Given the description of an element on the screen output the (x, y) to click on. 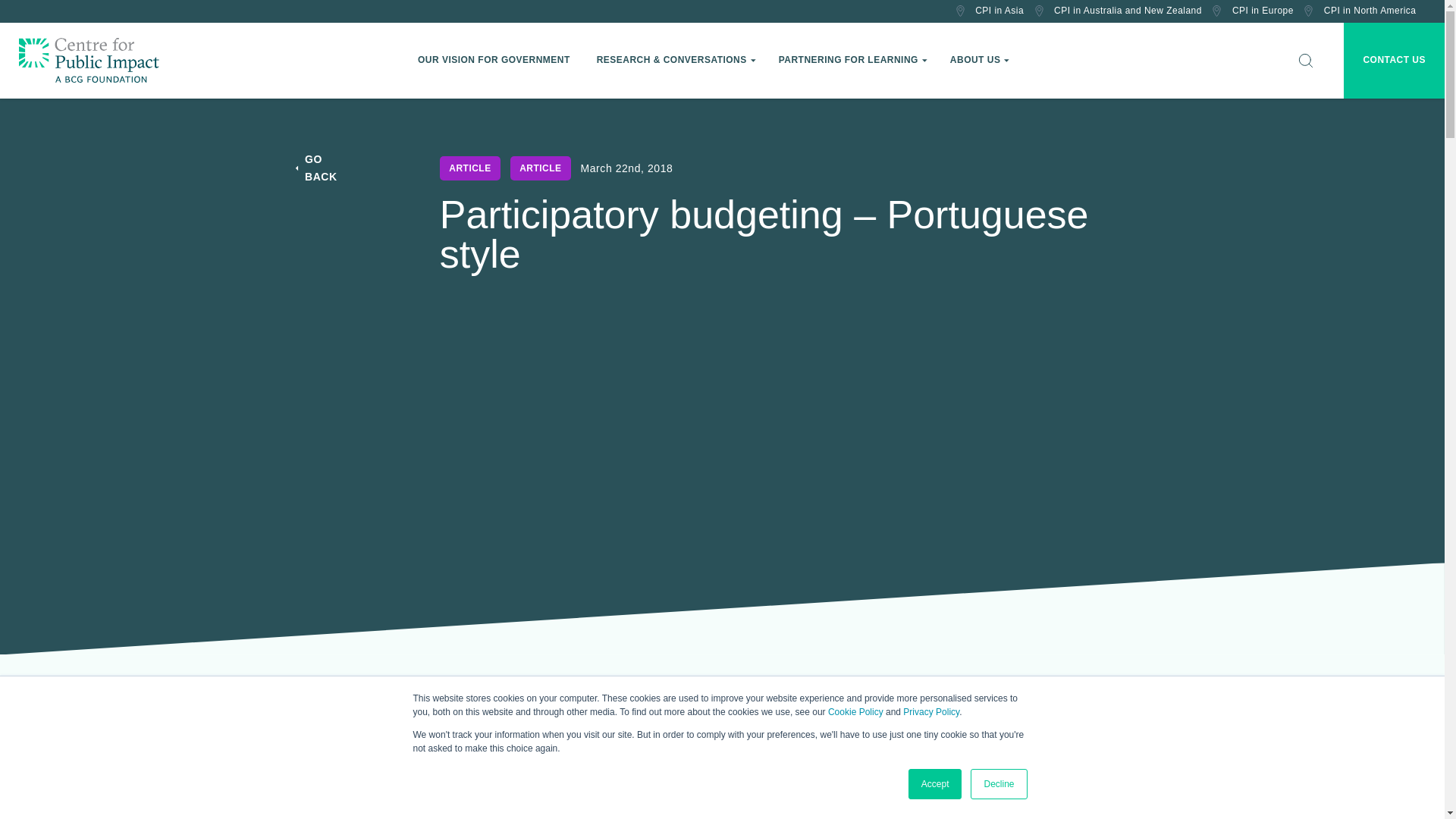
CPI in Australia and New Zealand (1117, 11)
Accept (935, 784)
Privacy Policy (930, 711)
PARTNERING FOR LEARNING (853, 60)
ABOUT US (980, 60)
OUR VISION FOR GOVERNMENT (495, 60)
CPI in Europe (1251, 11)
Home - Centre for public impact (88, 60)
Decline (998, 784)
Cookie Policy (855, 711)
Popup CTA (1281, 744)
CPI in North America (1359, 11)
CPI in Asia (989, 11)
